Given the description of an element on the screen output the (x, y) to click on. 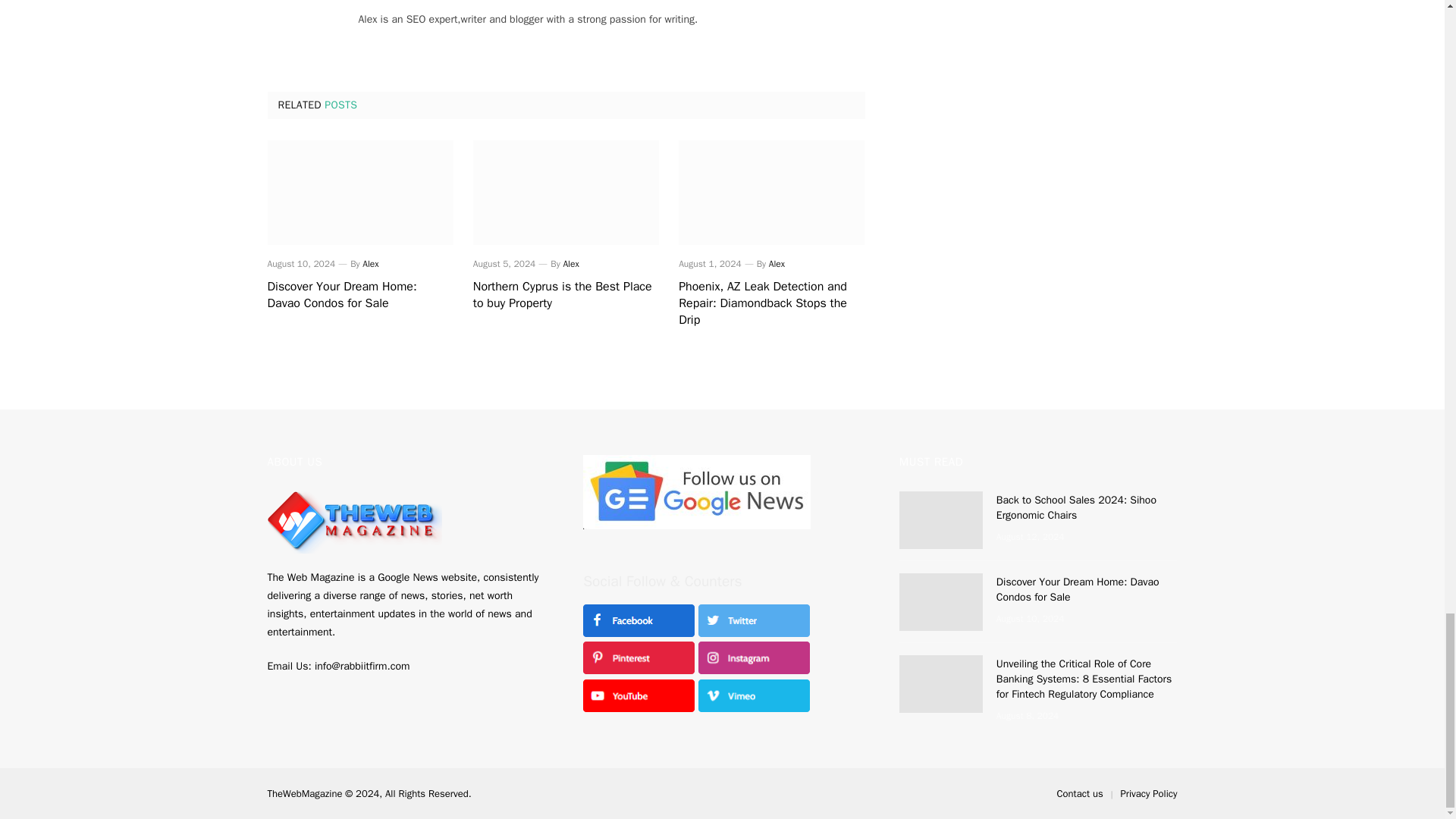
Alex (370, 263)
Northern Cyprus is the Best Place to buy Property (566, 192)
Alex (570, 263)
Discover Your Dream Home: Davao Condos for Sale (359, 192)
Northern Cyprus is the Best Place to buy Property (566, 295)
Alex (776, 263)
Discover Your Dream Home: Davao Condos for Sale (359, 295)
Posts by Alex (370, 263)
